Given the description of an element on the screen output the (x, y) to click on. 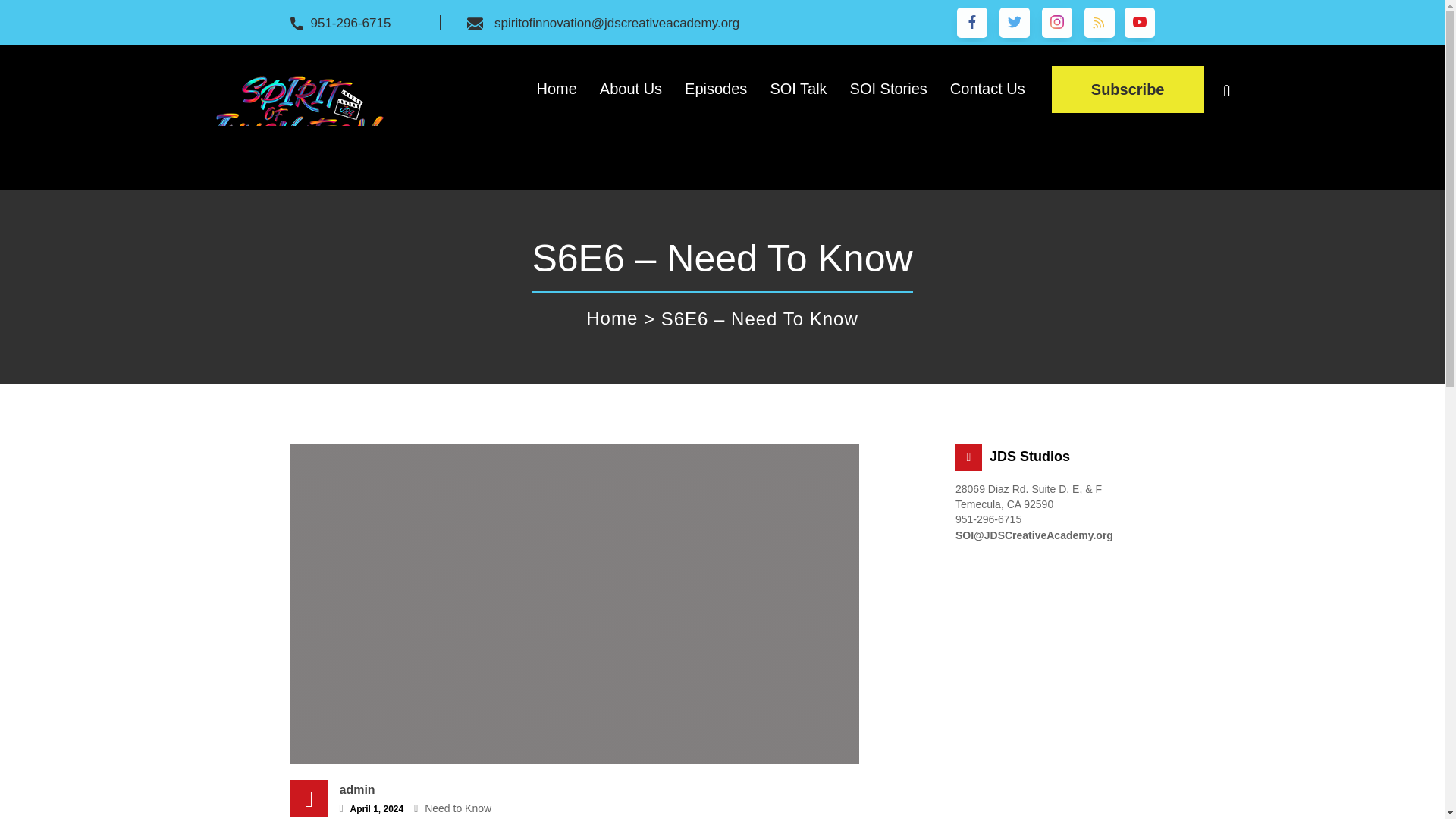
951-296-6715 (345, 22)
Home (611, 318)
SOI Talk (798, 89)
Contact Us (987, 89)
Subscribe (1127, 89)
Subscribe Our Youtube Channel (1127, 89)
Episodes (715, 89)
Mail Us (609, 22)
SOI Stories (888, 89)
Home (556, 89)
